Given the description of an element on the screen output the (x, y) to click on. 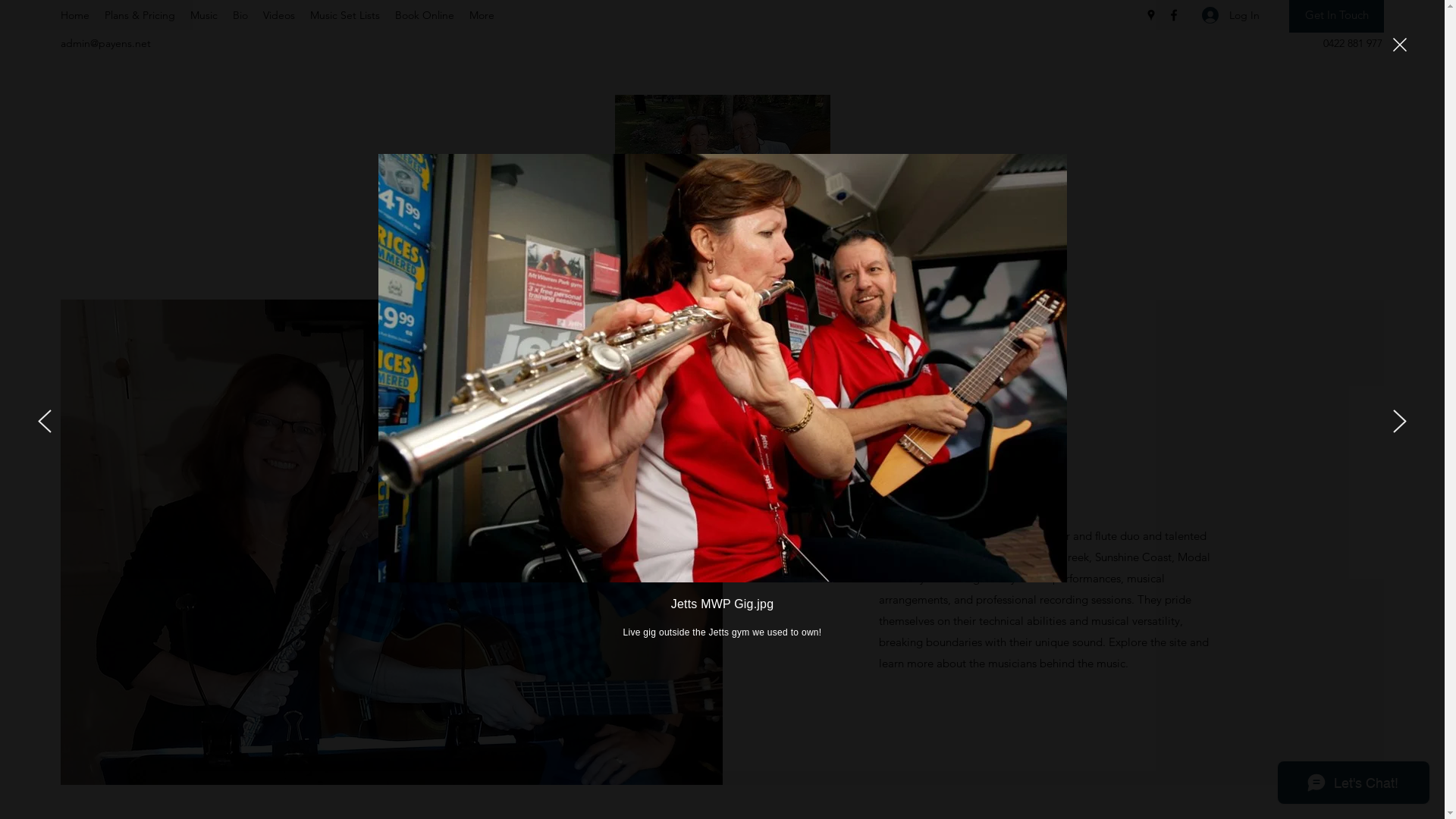
Music Set Lists Element type: text (344, 14)
Music Element type: text (203, 14)
Bio Element type: text (240, 14)
Book Online Element type: text (424, 14)
admin@payens.net Element type: text (105, 43)
Home Element type: text (75, 14)
Videos Element type: text (278, 14)
MODAL HARMONY Element type: text (723, 241)
Plans & Pricing Element type: text (139, 14)
Log In Element type: text (1230, 15)
